Given the description of an element on the screen output the (x, y) to click on. 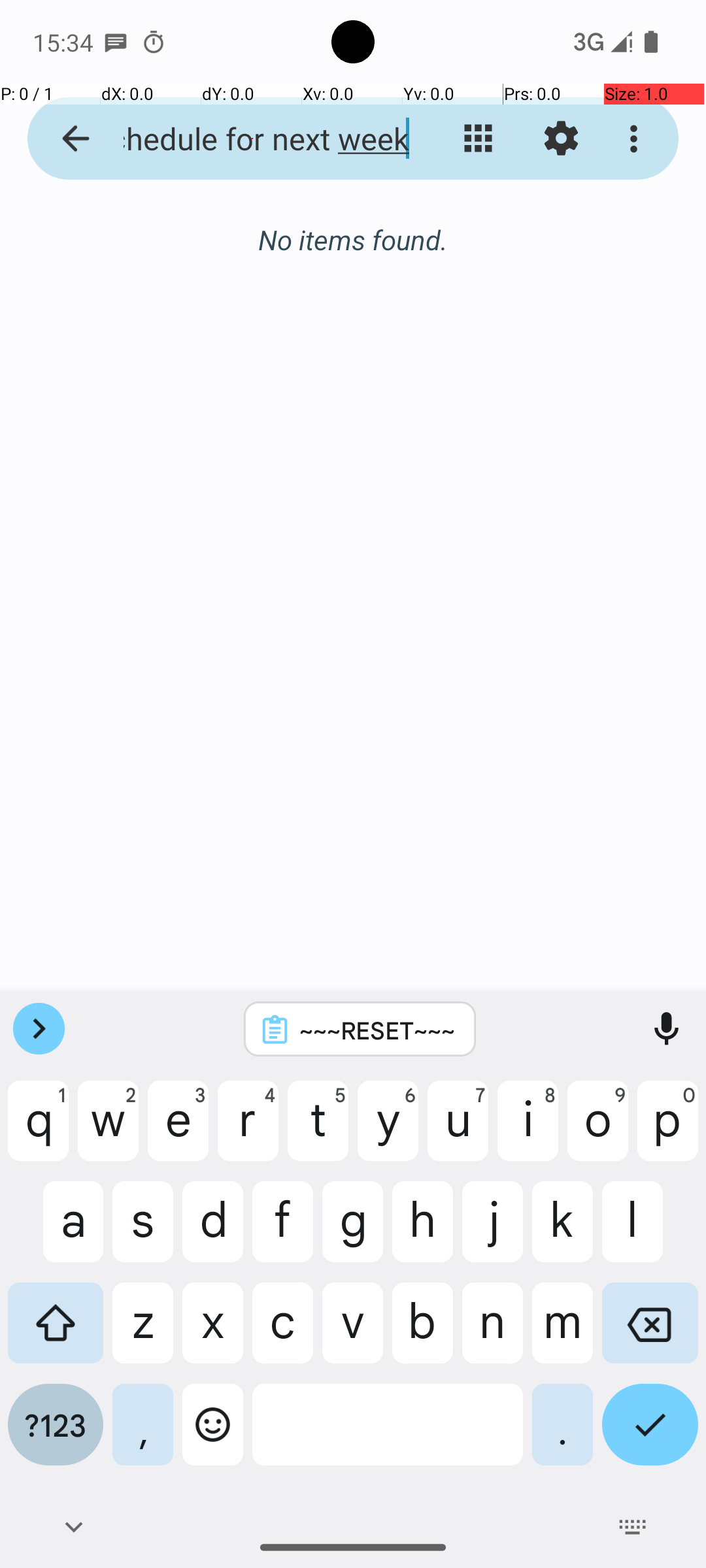
Meeting schedule for next week Element type: android.widget.EditText (252, 138)
